Given the description of an element on the screen output the (x, y) to click on. 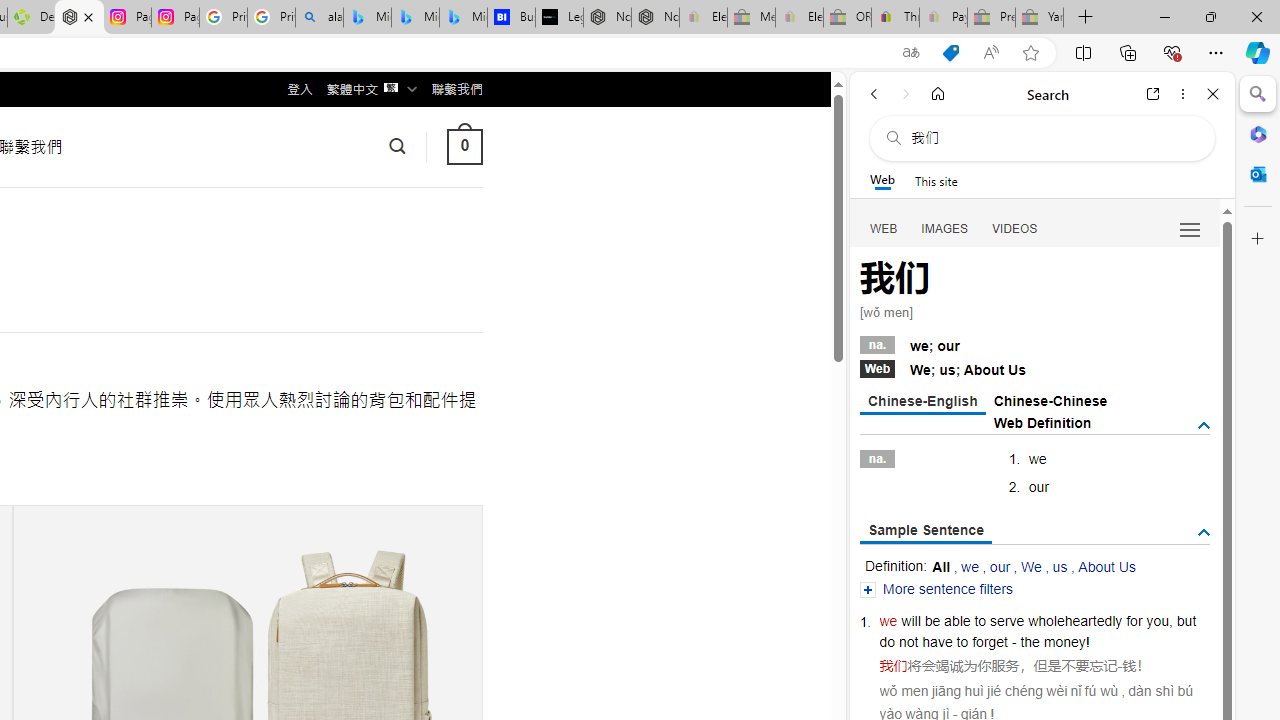
Microsoft Bing Travel - Shangri-La Hotel Bangkok (463, 17)
Web Definition (1042, 422)
